Given the description of an element on the screen output the (x, y) to click on. 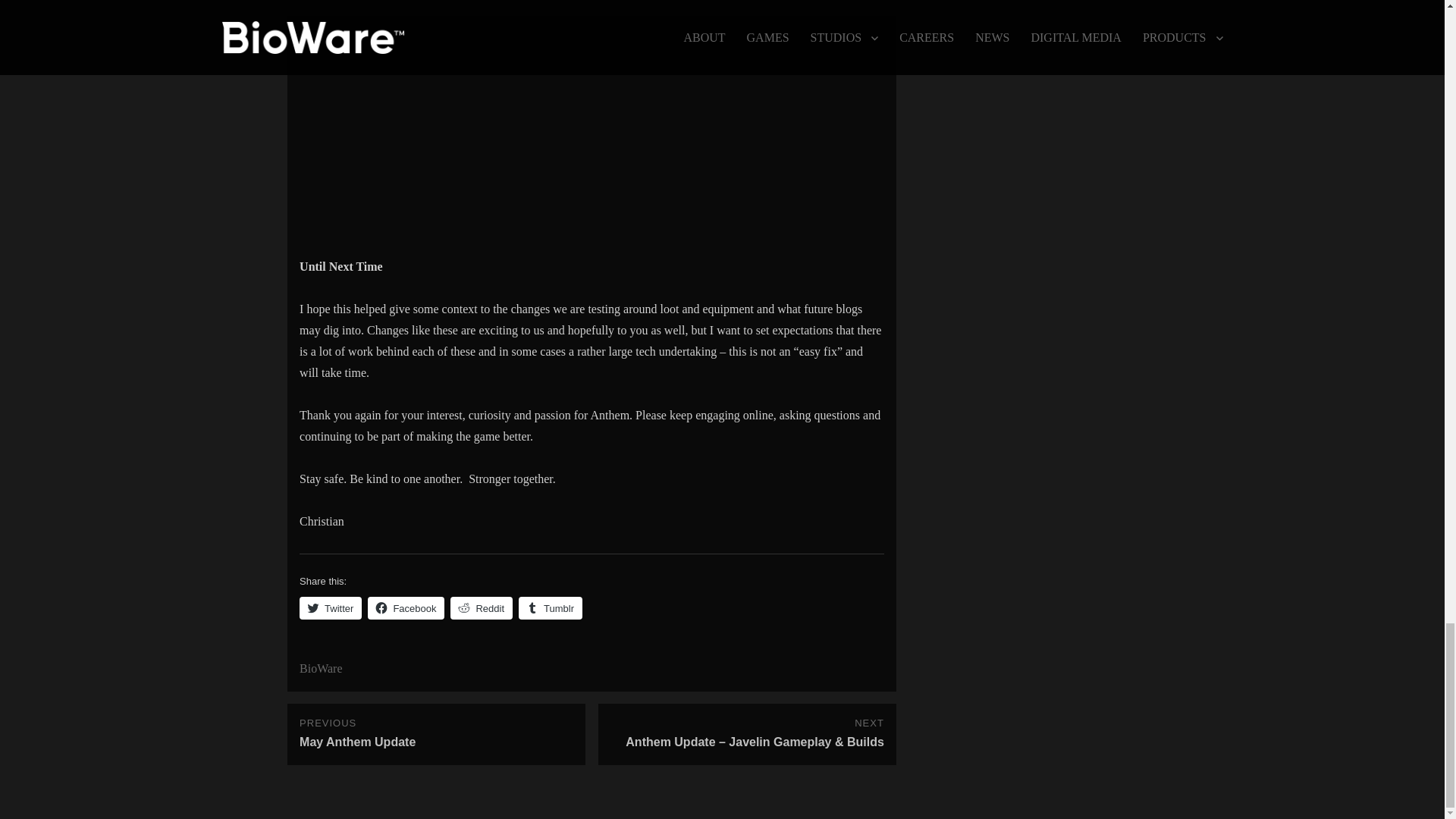
Click to share on Facebook (406, 608)
Click to share on Twitter (330, 608)
BioWare (320, 667)
Click to share on Tumblr (550, 608)
Twitter (436, 733)
Reddit (330, 608)
Click to share on Reddit (480, 608)
Tumblr (480, 608)
Facebook (550, 608)
